Given the description of an element on the screen output the (x, y) to click on. 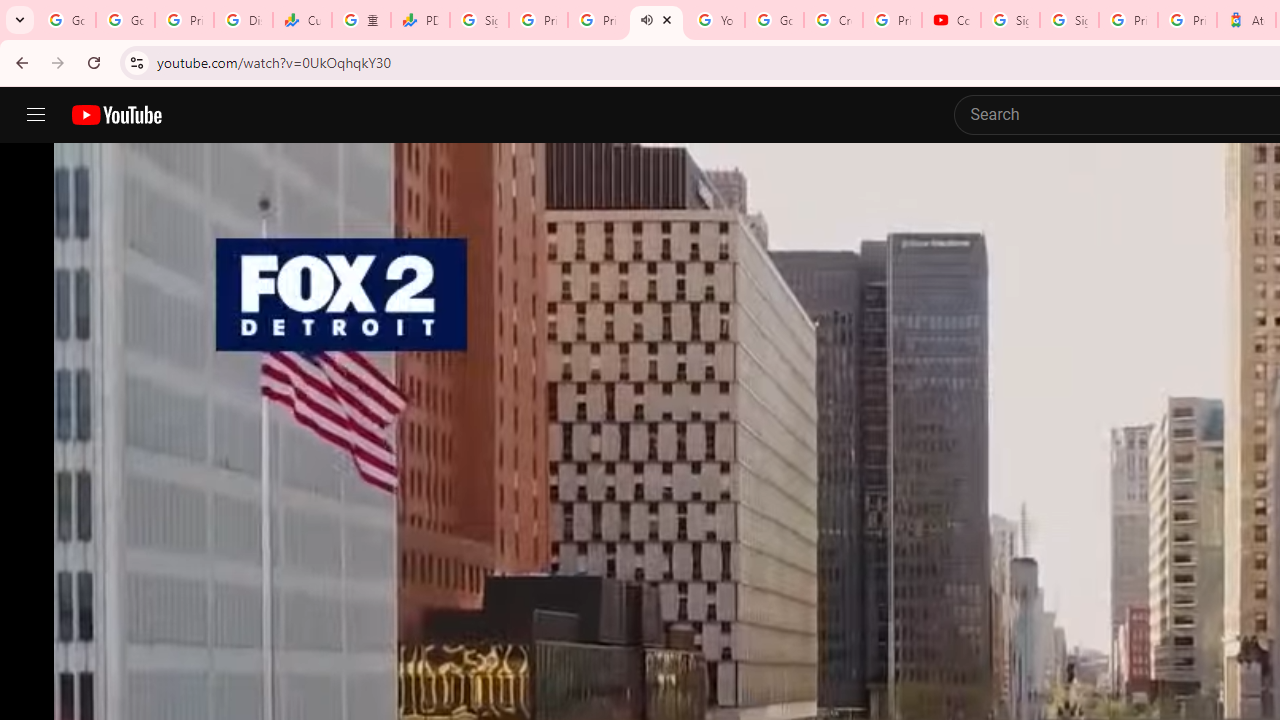
Guide (35, 115)
